Given the description of an element on the screen output the (x, y) to click on. 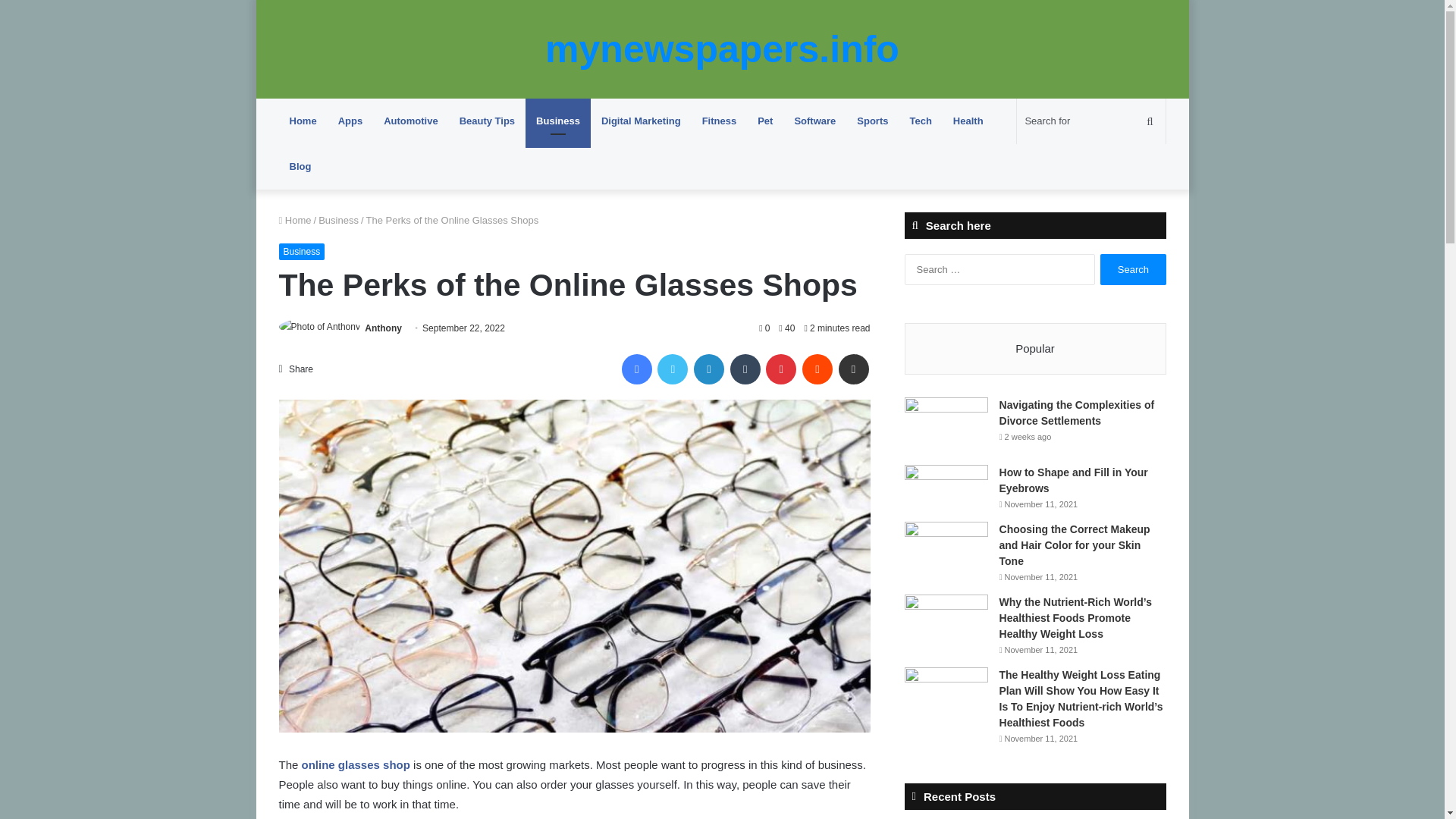
Share via Email (853, 368)
Apps (350, 121)
Share via Email (853, 368)
Health (968, 121)
LinkedIn (708, 368)
LinkedIn (708, 368)
Tumblr (745, 368)
Home (295, 220)
Facebook (636, 368)
Fitness (719, 121)
Pinterest (780, 368)
Pet (764, 121)
Twitter (672, 368)
Business (558, 121)
mynewspapers.info (721, 48)
